Given the description of an element on the screen output the (x, y) to click on. 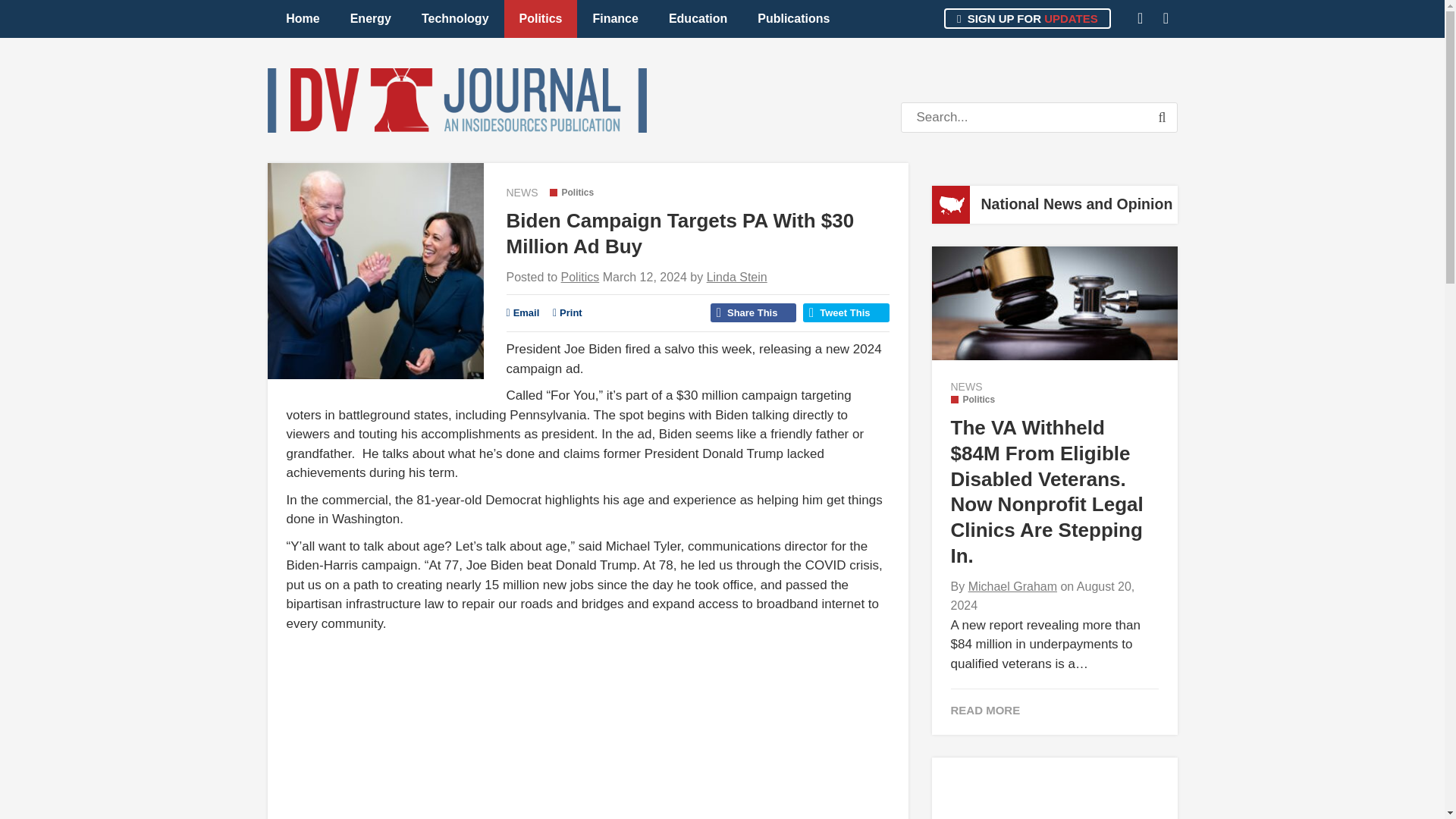
View all posts in Politics (972, 398)
Home (302, 18)
Posts by Linda Stein (736, 277)
Politics (571, 192)
Politics (579, 277)
View all posts in Politics (571, 192)
Finance (614, 18)
Education (697, 18)
National News and Opinion (1077, 203)
Email (523, 312)
